Given the description of an element on the screen output the (x, y) to click on. 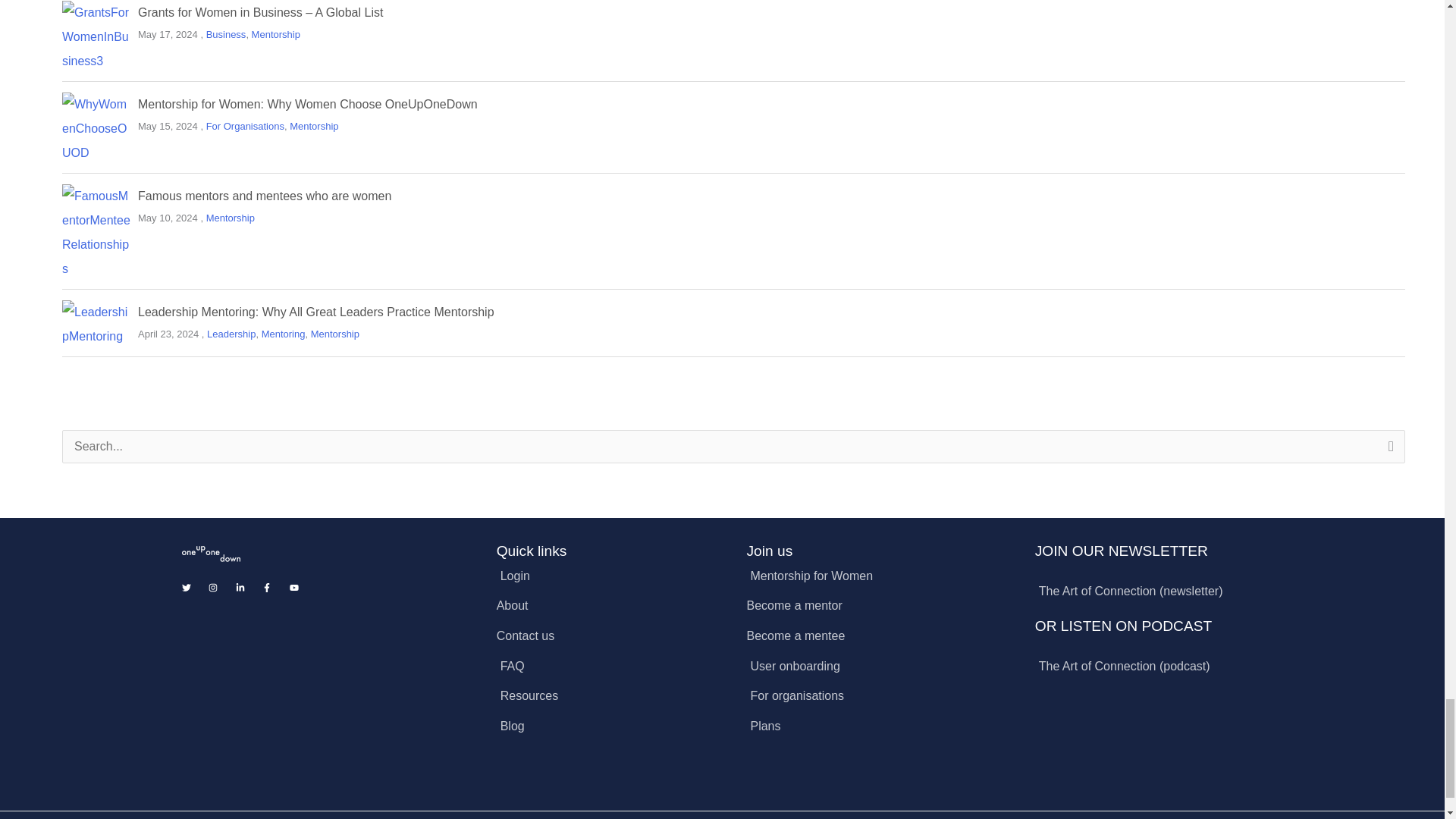
Mentorship for Women: Why Women Choose OneUpOneDown (307, 103)
Famous mentors and mentees who are women (264, 195)
